Given the description of an element on the screen output the (x, y) to click on. 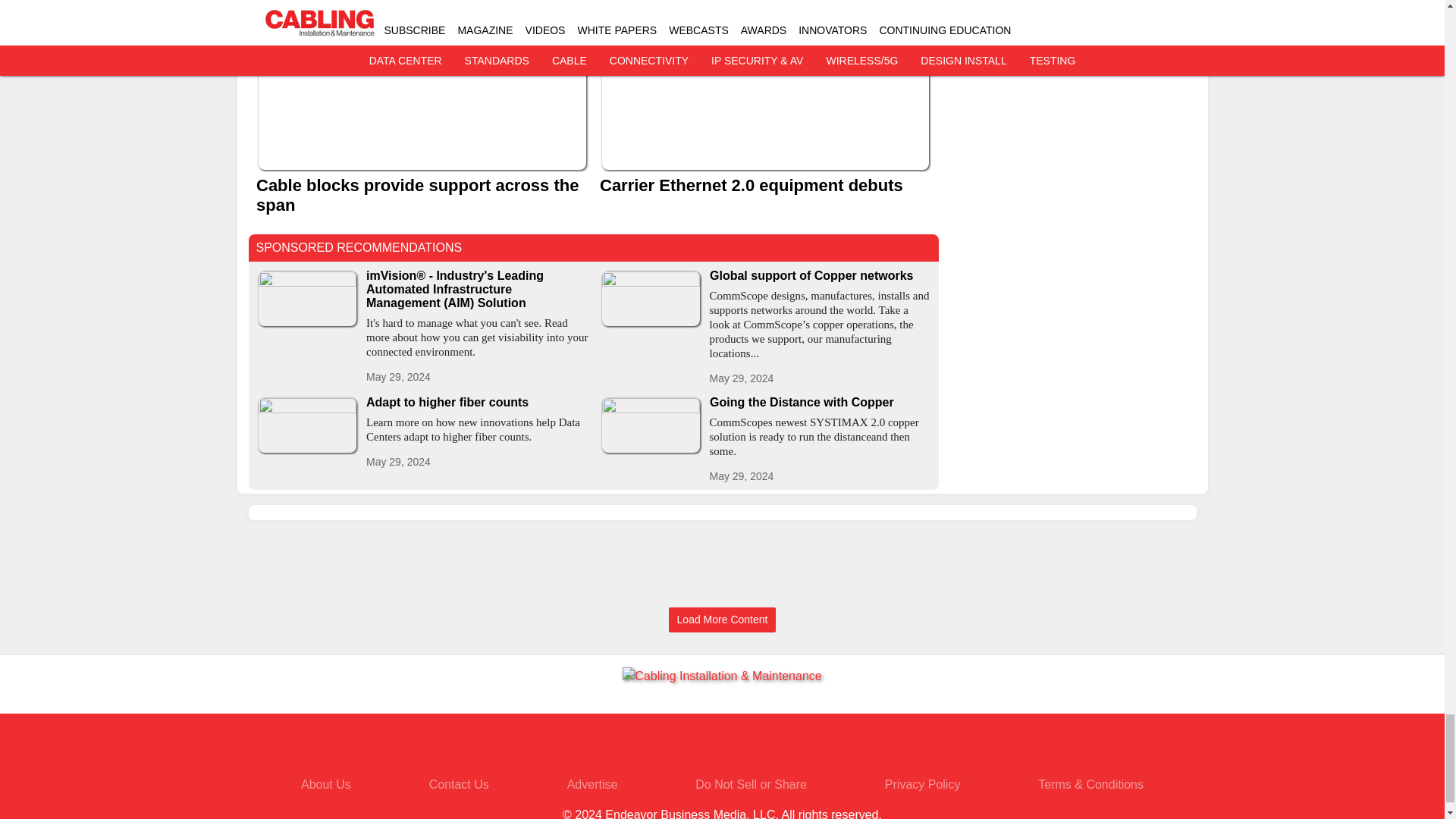
Adapt to higher fiber counts (476, 402)
Going the Distance with Copper (820, 402)
Carrier Ethernet 2.0 equipment debuts (764, 185)
Global support of Copper networks (820, 275)
Cable blocks provide support across the span (422, 195)
